Given the description of an element on the screen output the (x, y) to click on. 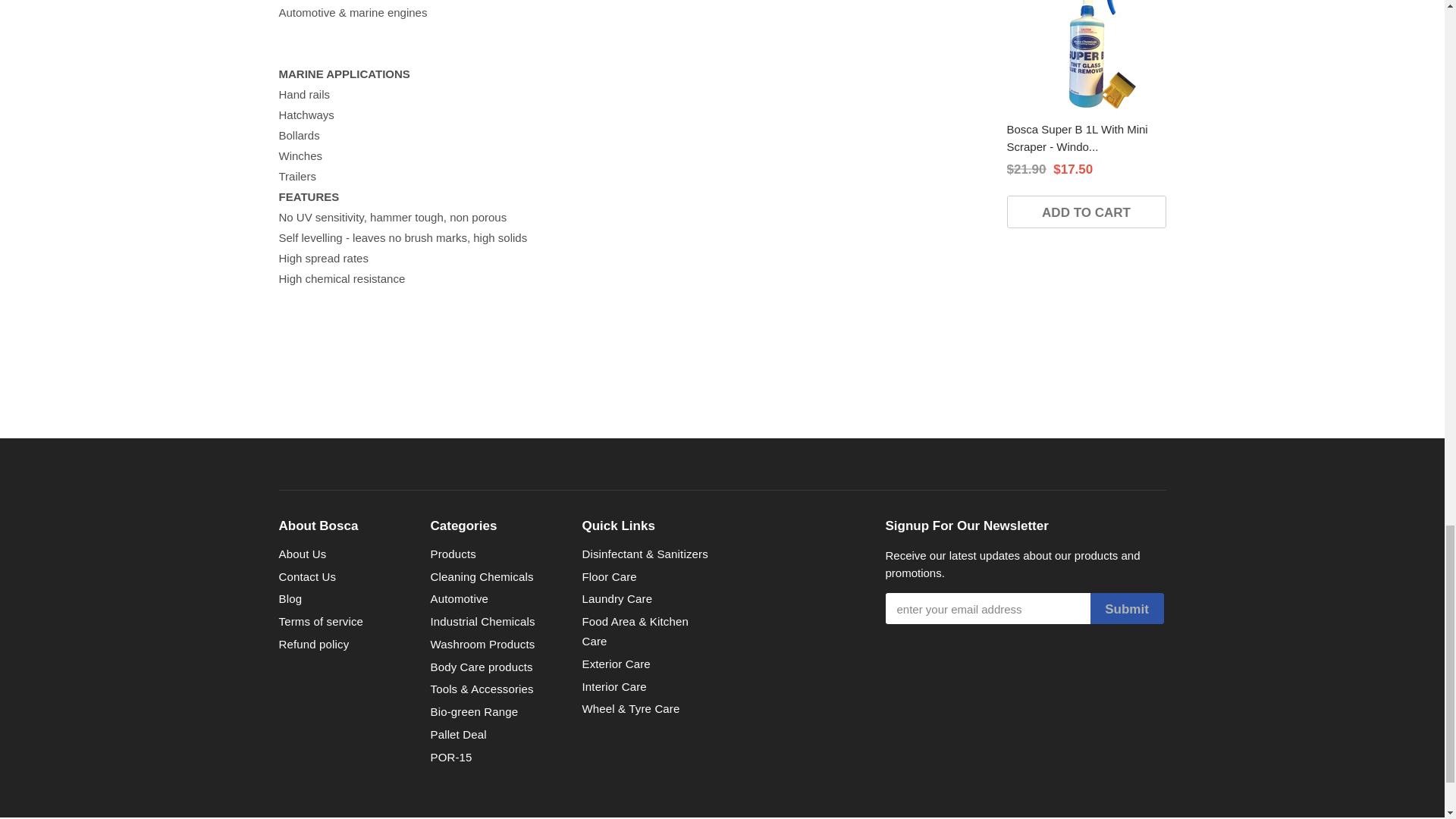
Submit (1126, 608)
